Given the description of an element on the screen output the (x, y) to click on. 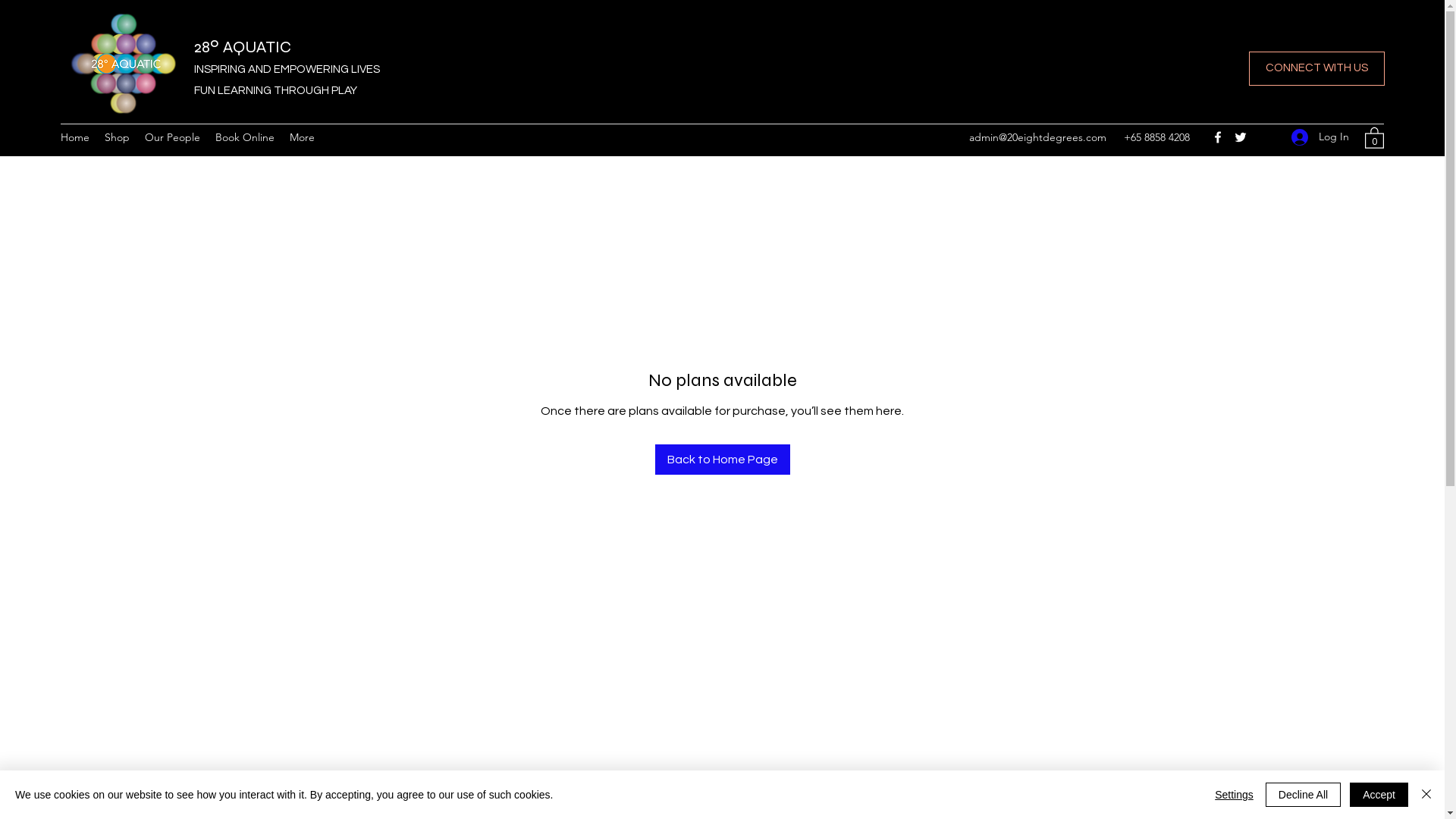
Accept Element type: text (1378, 794)
admin@20eightdegrees.com Element type: text (1037, 137)
0 Element type: text (1374, 136)
Home Element type: text (75, 136)
Book Online Element type: text (244, 136)
Log In Element type: text (1319, 136)
Back to Home Page Element type: text (722, 459)
Decline All Element type: text (1302, 794)
Shop Element type: text (117, 136)
CONNECT WITH US Element type: text (1316, 68)
Our People Element type: text (172, 136)
